Given the description of an element on the screen output the (x, y) to click on. 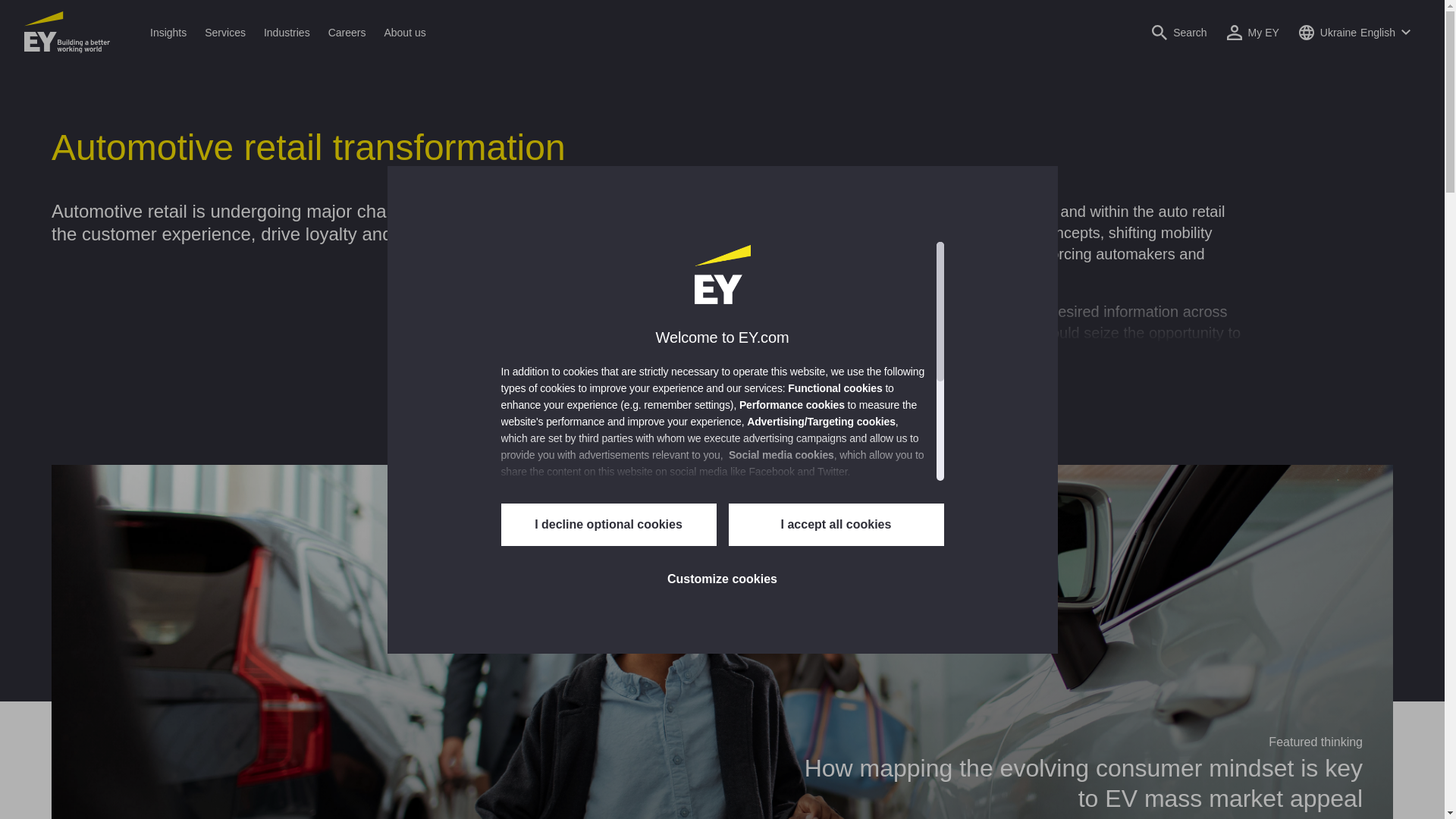
Open country language switcher (1354, 32)
Open search (1178, 32)
EY Homepage (67, 32)
My EY (1252, 32)
